Given the description of an element on the screen output the (x, y) to click on. 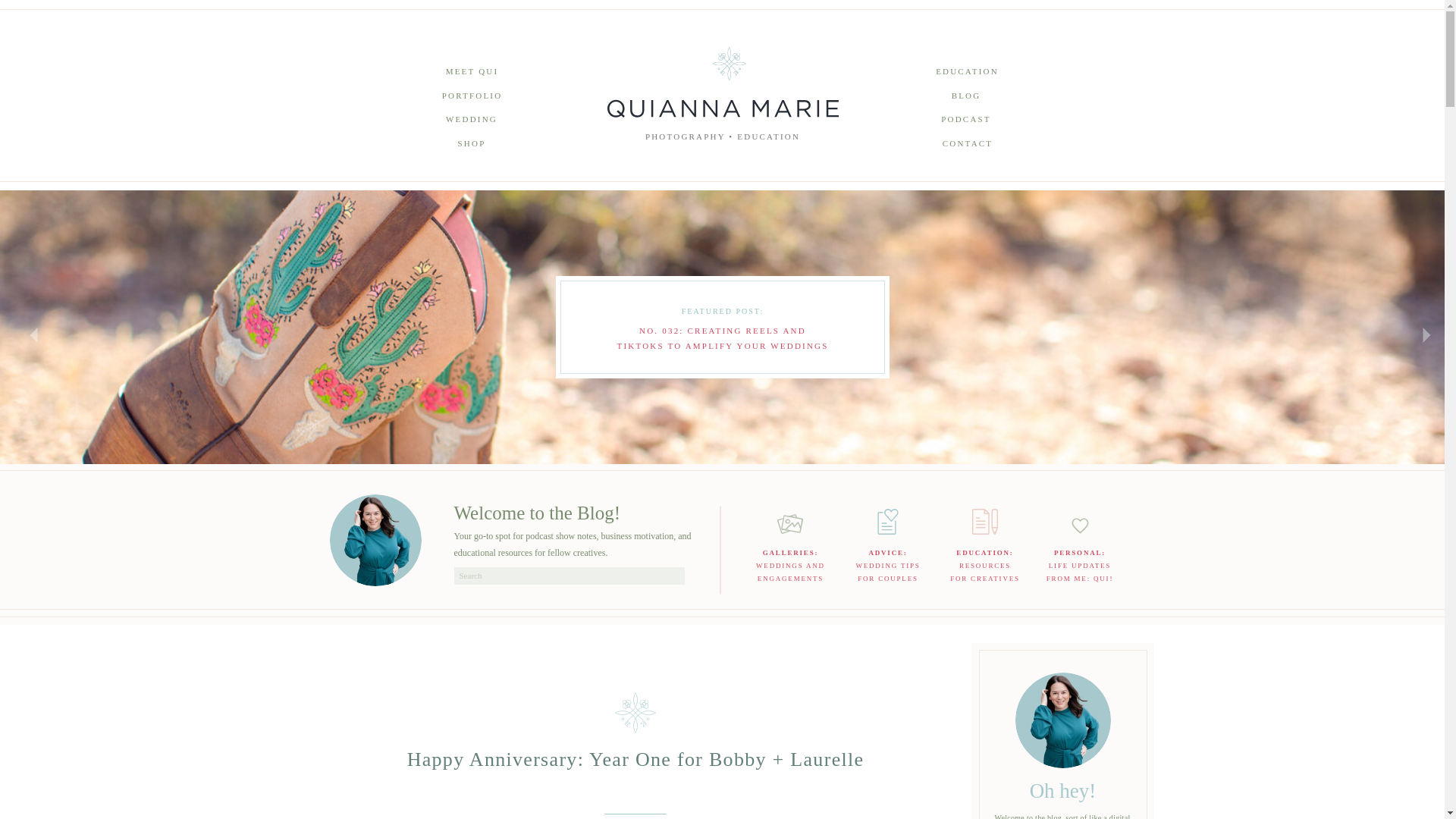
PORTFOLIO (471, 98)
NO. 032: CREATING REELS AND TIKTOKS TO AMPLIFY YOUR WEDDINGS (722, 336)
BLOG (965, 98)
GALLERIES: WEDDINGS AND ENGAGEMENTS (790, 564)
EDUCATION (1079, 564)
MEET QUI (967, 74)
SHOP (471, 74)
ADVICE: WEDDING TIPS FOR COUPLES (472, 146)
